Given the description of an element on the screen output the (x, y) to click on. 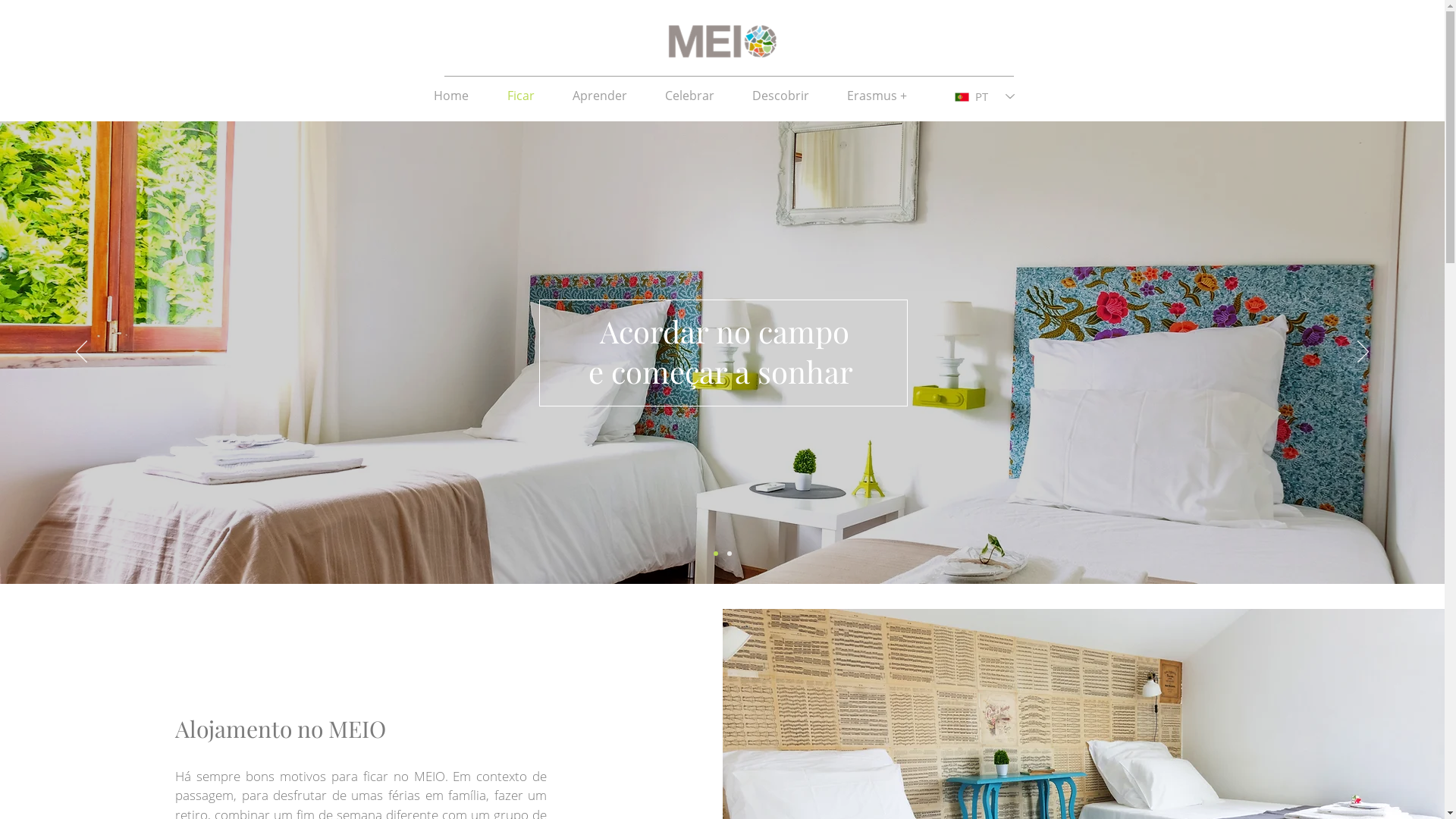
Aprender Element type: text (599, 95)
Erasmus + Element type: text (876, 95)
Home Element type: text (450, 95)
Ficar Element type: text (520, 95)
Descobrir Element type: text (779, 95)
Celebrar Element type: text (689, 95)
